Given the description of an element on the screen output the (x, y) to click on. 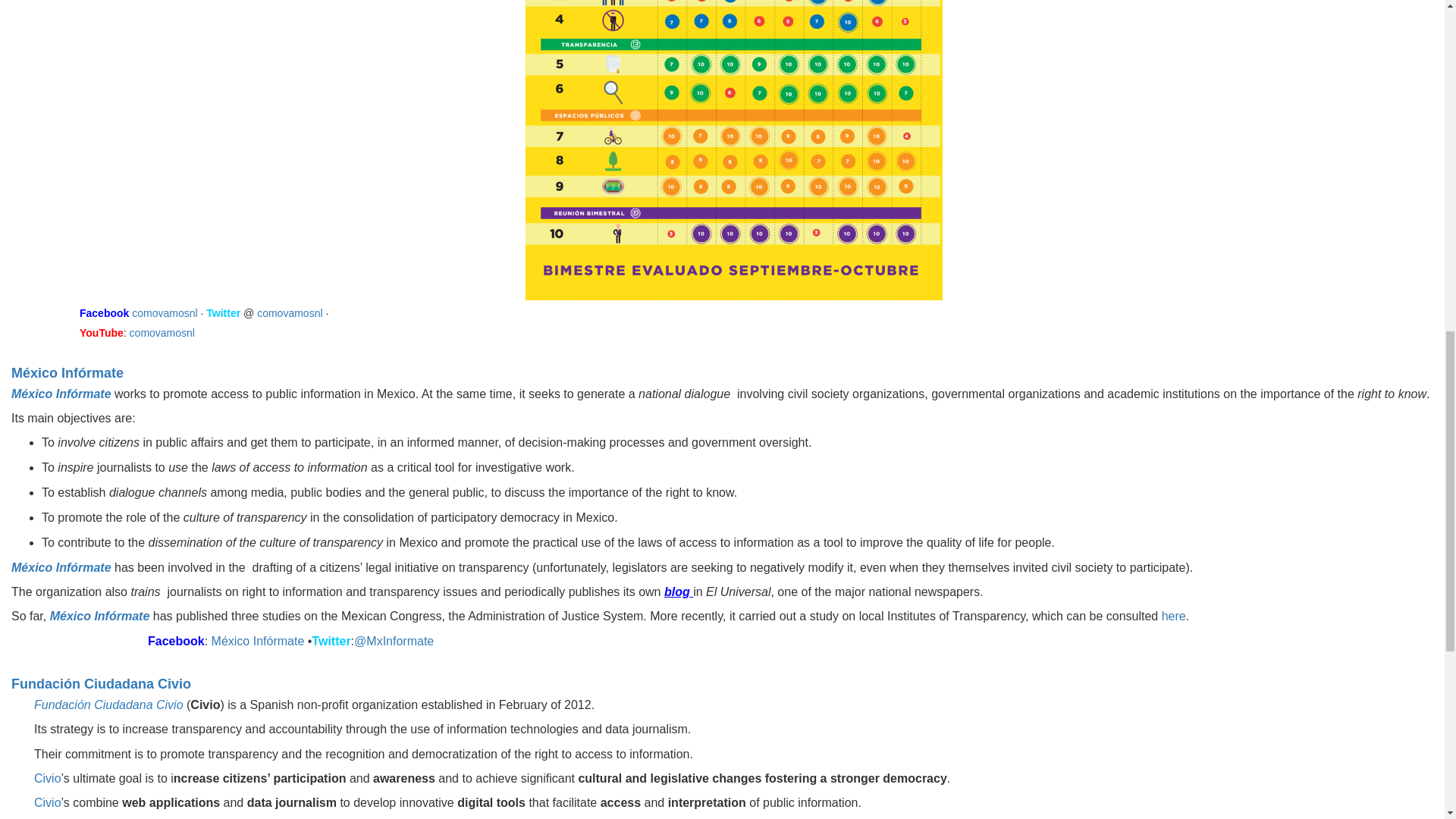
here (1173, 615)
comovamosnl (289, 313)
comovamosnl (162, 332)
blog (678, 591)
comovamosnl (166, 313)
